Given the description of an element on the screen output the (x, y) to click on. 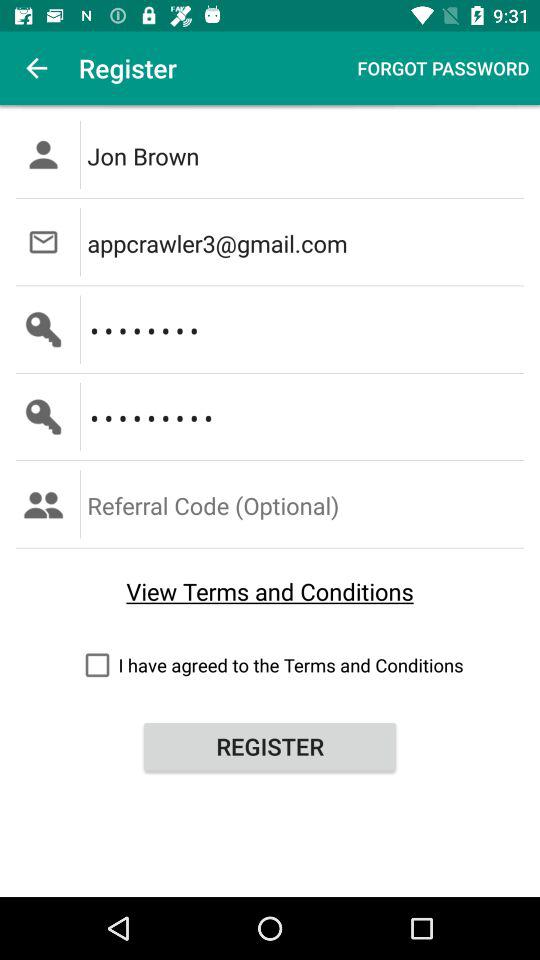
click the appcrawler3@gmail.com (306, 242)
